Given the description of an element on the screen output the (x, y) to click on. 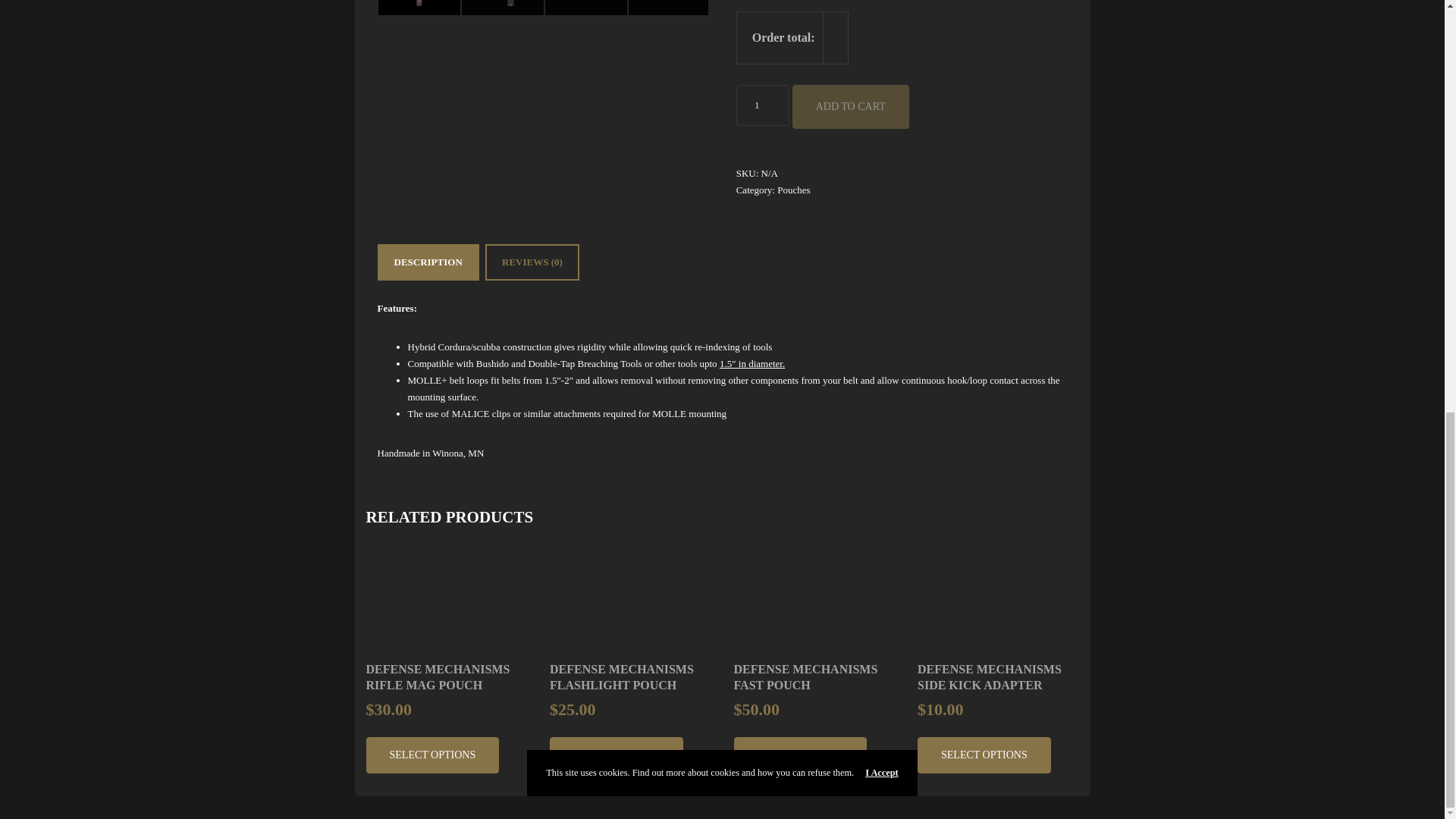
DESCRIPTION (427, 262)
Pouches (793, 189)
1 (762, 105)
MALICE clips (481, 413)
ADD TO CART (850, 106)
